Given the description of an element on the screen output the (x, y) to click on. 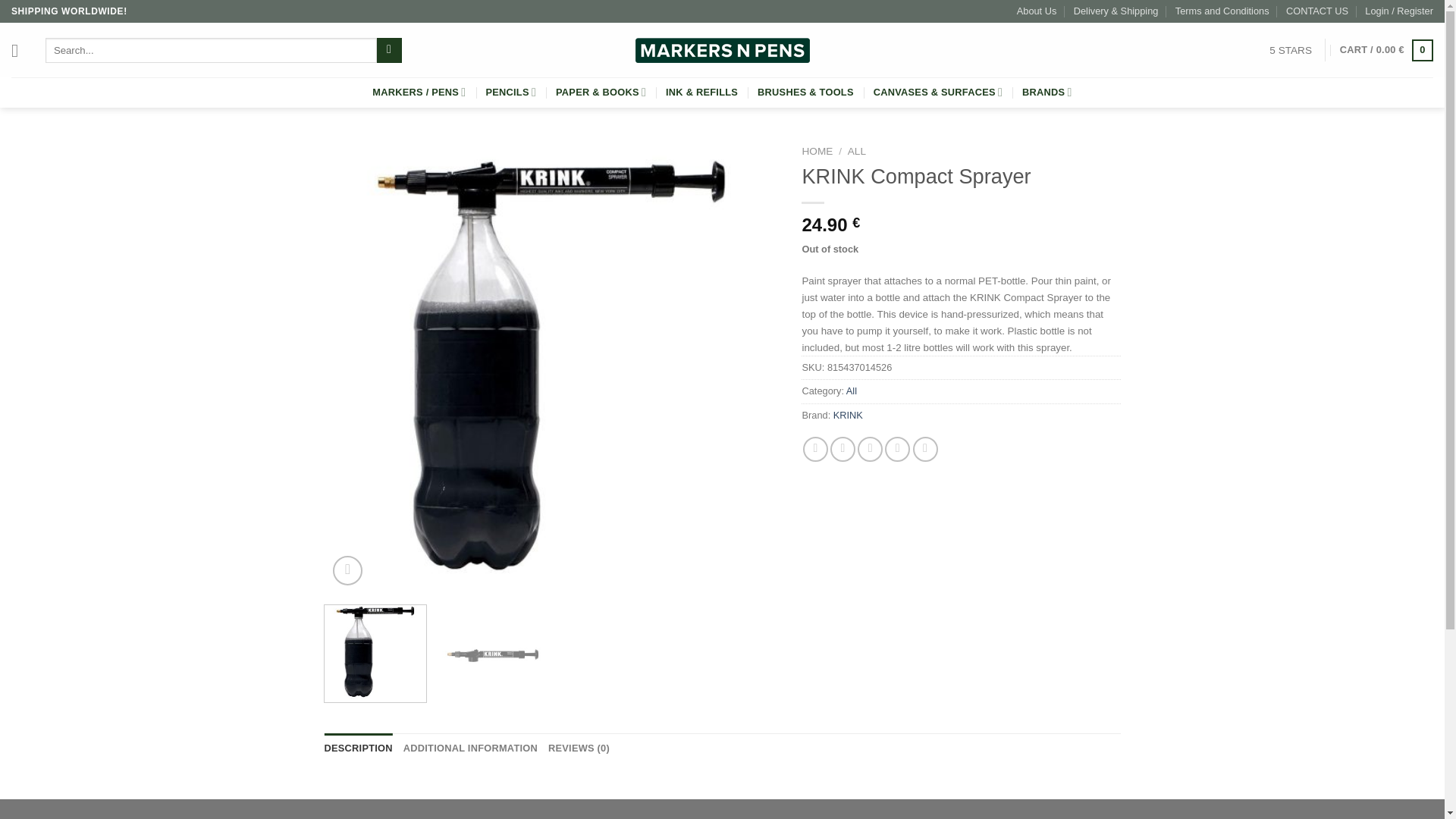
Search (389, 50)
Cart (1385, 50)
CONTACT US (1316, 11)
Share on Twitter (842, 448)
Share on Facebook (815, 448)
Pin on Pinterest (897, 448)
PENCILS (509, 91)
About Us (1036, 11)
Terms and Conditions (1221, 11)
Share on LinkedIn (924, 448)
Email to a Friend (869, 448)
Zoom (347, 570)
Markersnpens.com - We love markers n pens! (721, 50)
